Given the description of an element on the screen output the (x, y) to click on. 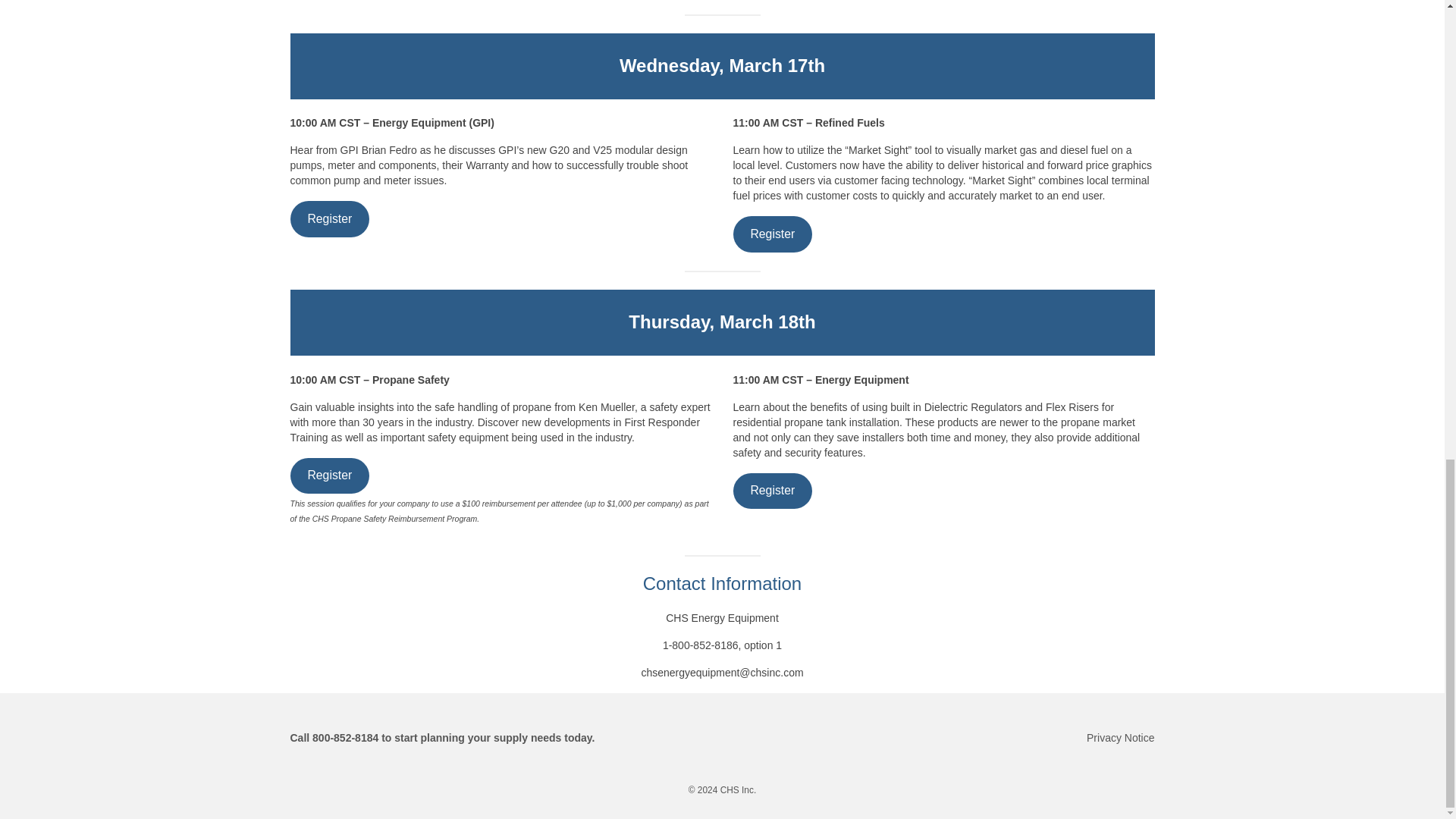
Register (329, 218)
Register (772, 490)
Privacy Notice (1120, 737)
CHS Inc. (738, 789)
Register (329, 475)
Register (772, 233)
